Given the description of an element on the screen output the (x, y) to click on. 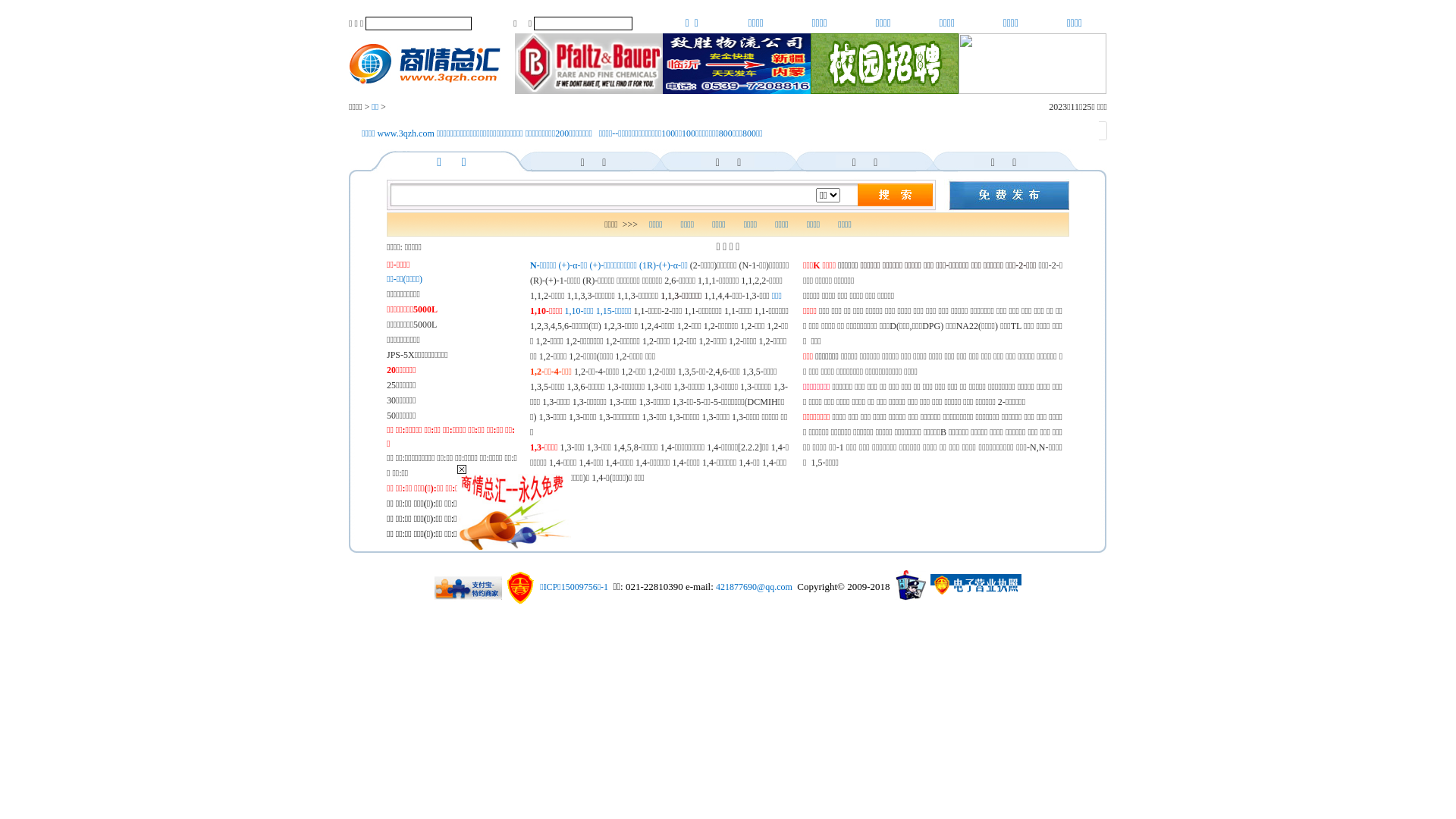
421877690@qq.com Element type: text (753, 586)
